Given the description of an element on the screen output the (x, y) to click on. 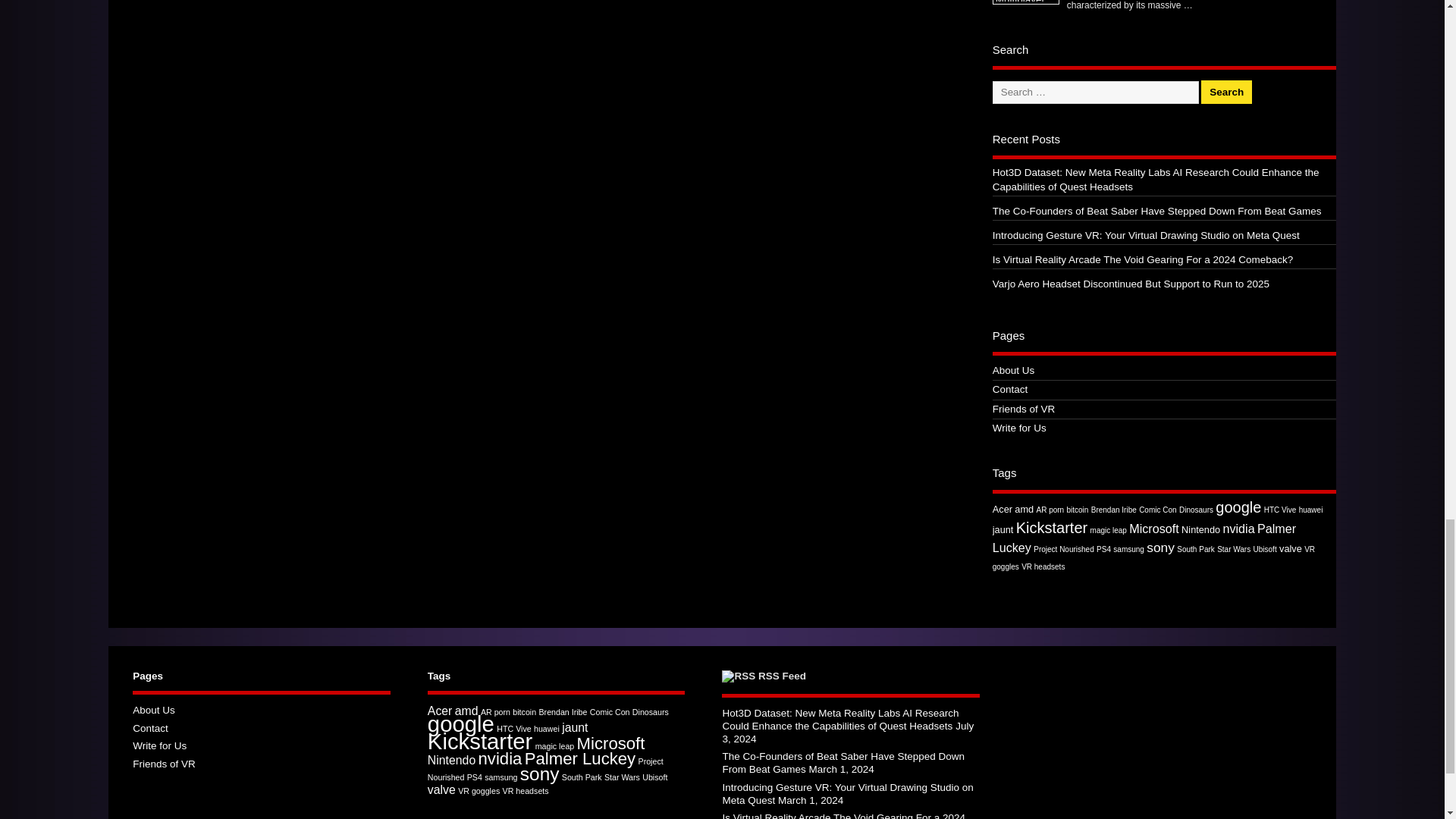
Search for: (1095, 92)
Search (1226, 92)
Search (1226, 92)
